Given the description of an element on the screen output the (x, y) to click on. 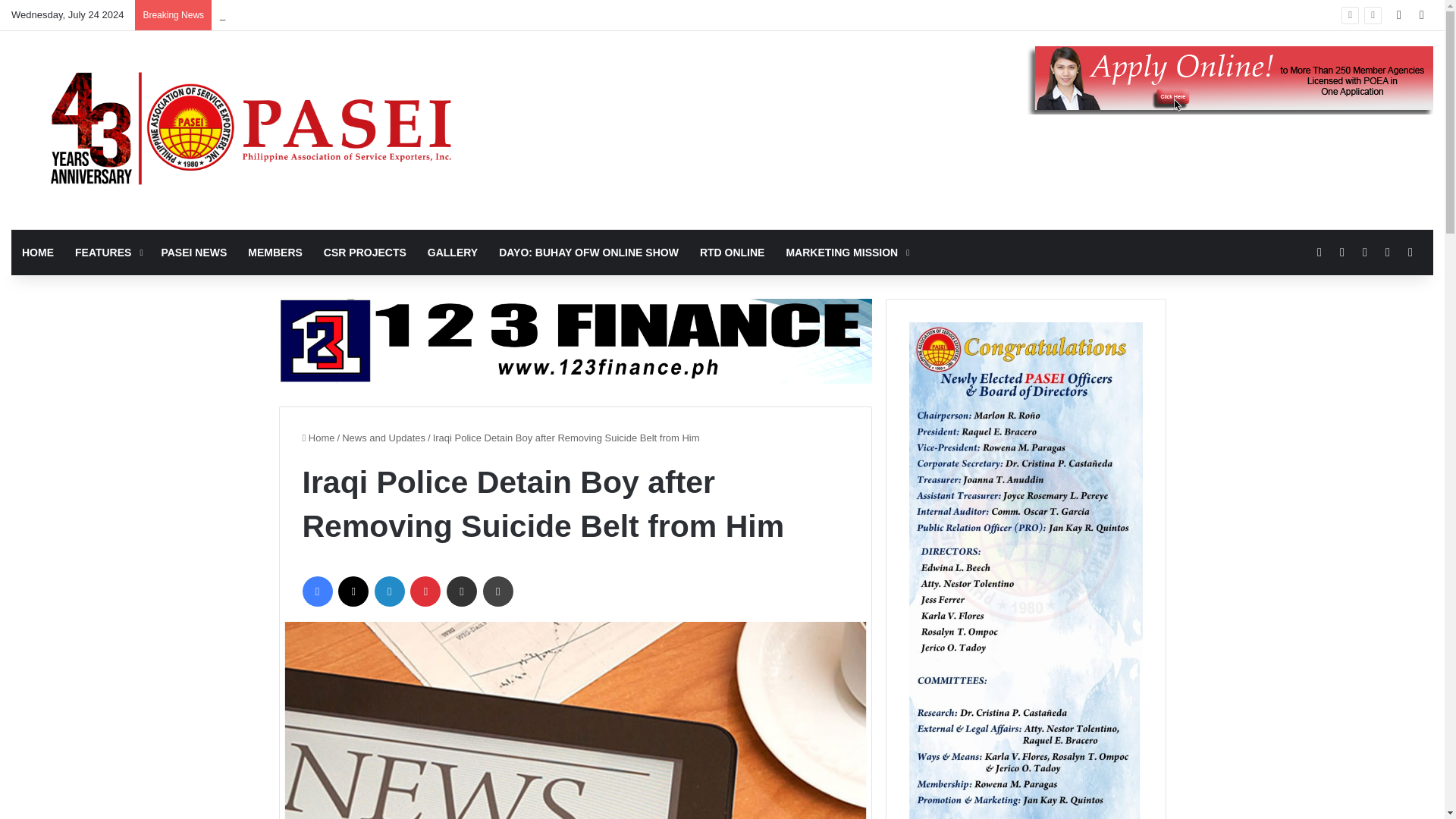
Home (317, 437)
HOME (37, 252)
Facebook (316, 591)
Share via Email (461, 591)
X (352, 591)
RTD ONLINE (732, 252)
DAYO: BUHAY OFW ONLINE SHOW (587, 252)
MEMBERS (275, 252)
FEATURES (106, 252)
News and Updates (383, 437)
X (352, 591)
LinkedIn (389, 591)
Print (498, 591)
MARKETING MISSION (845, 252)
CSR PROJECTS (364, 252)
